Given the description of an element on the screen output the (x, y) to click on. 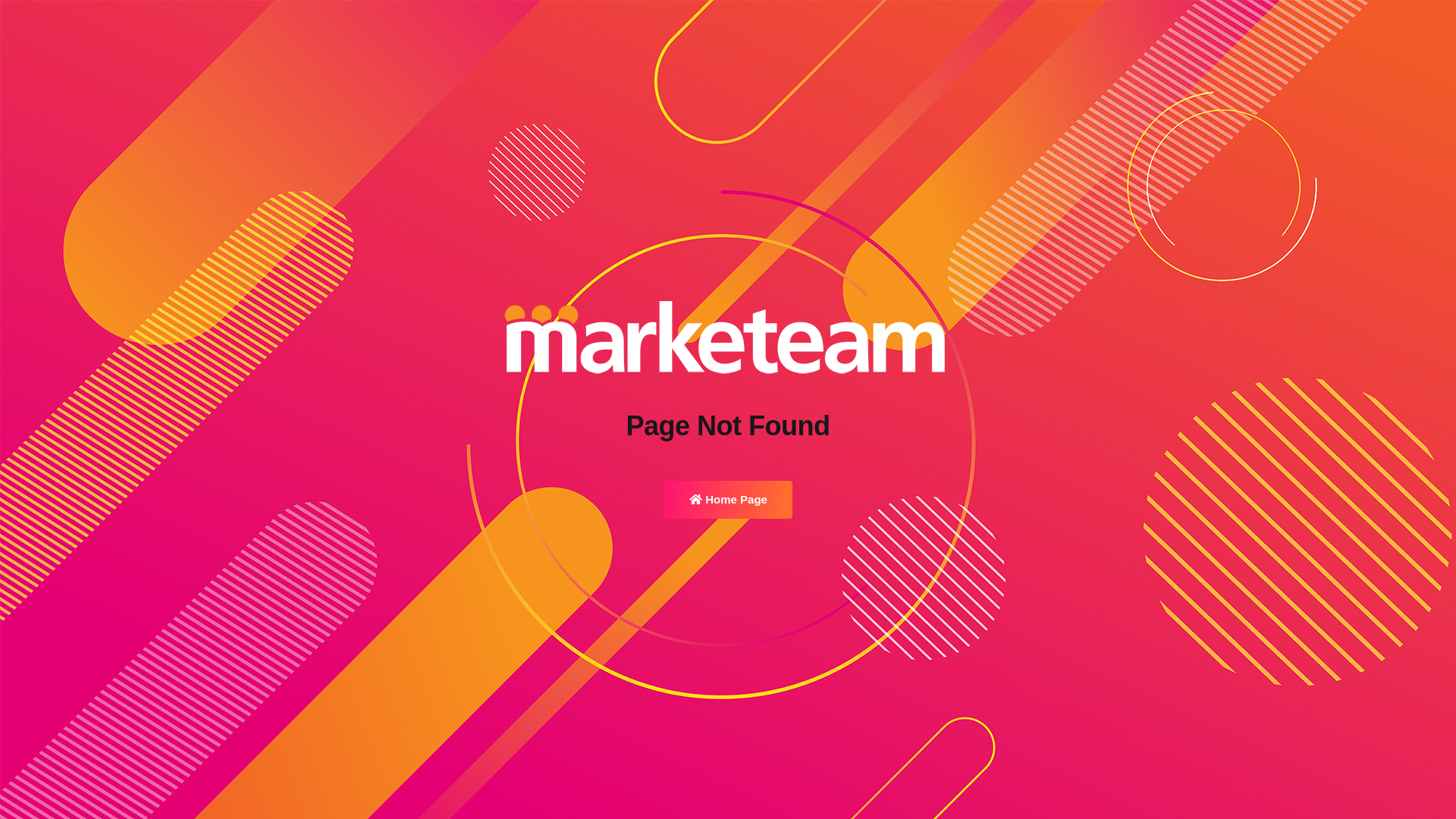
Home Page Element type: text (727, 499)
